Given the description of an element on the screen output the (x, y) to click on. 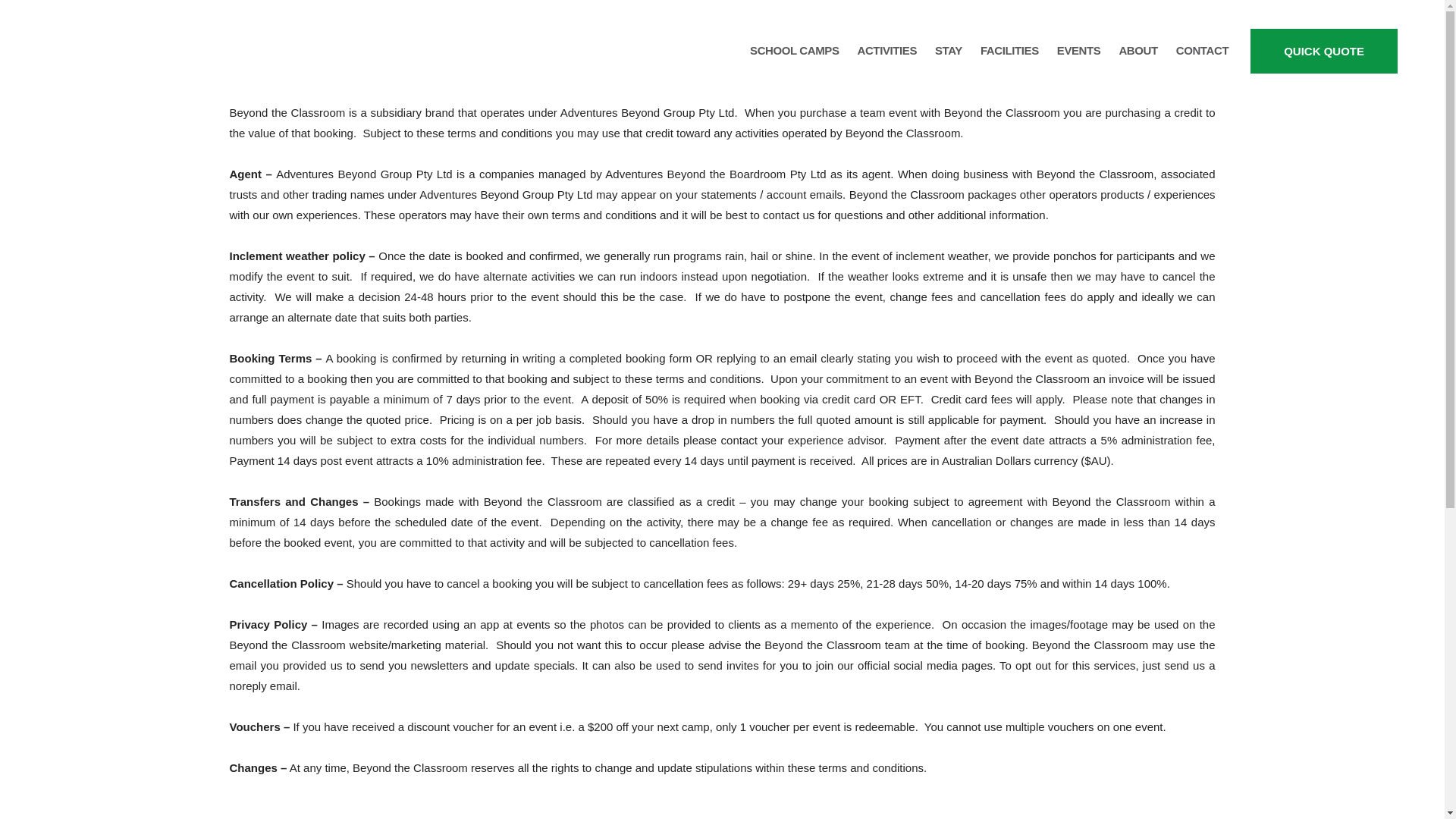
SCHOOL CAMPS (794, 50)
QUICK QUOTE (1323, 50)
